Given the description of an element on the screen output the (x, y) to click on. 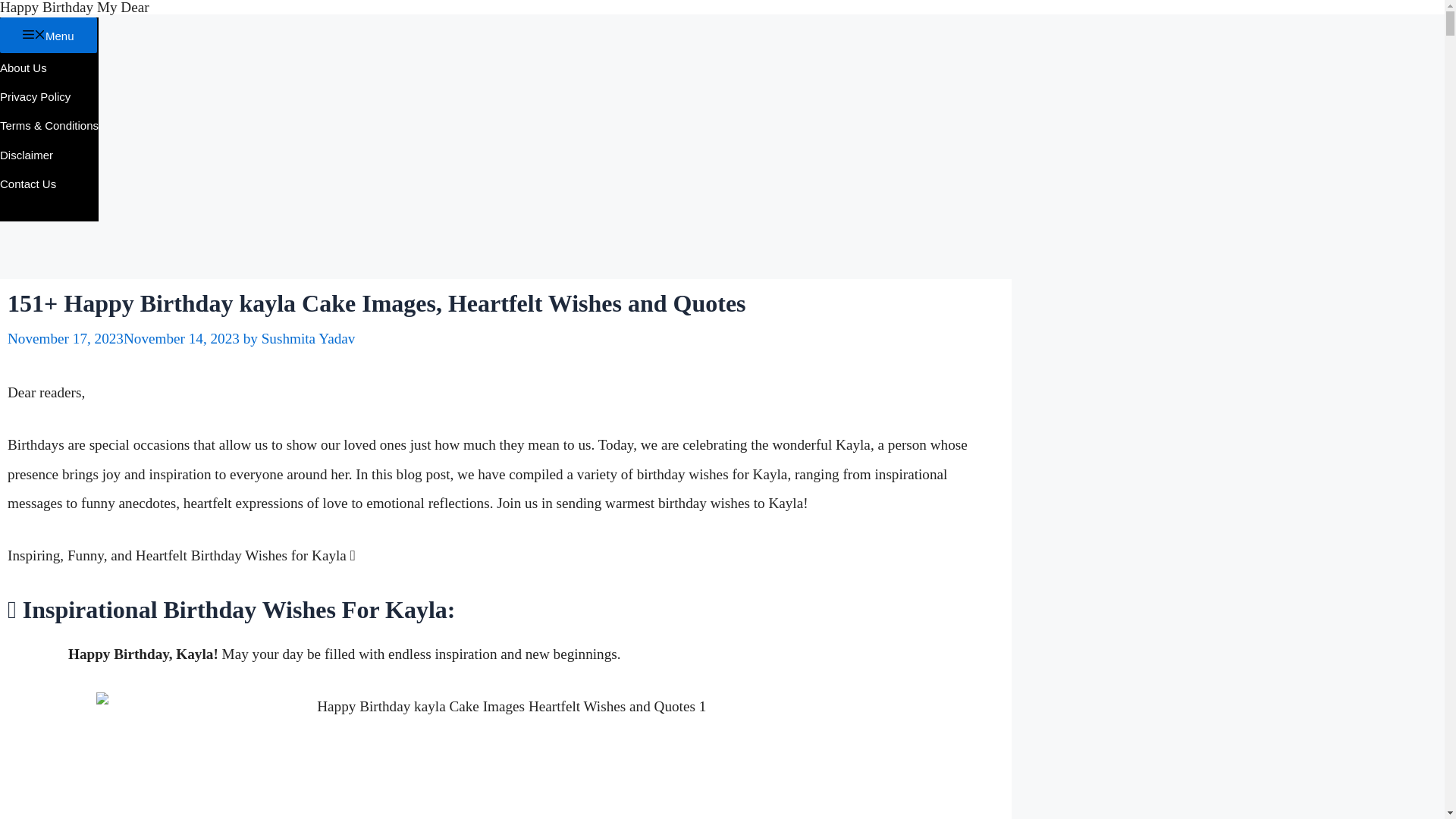
Privacy Policy (34, 96)
View all posts by Sushmita Yadav (308, 338)
Sushmita Yadav (308, 338)
Happy Birthday My Dear (74, 7)
Contact Us (28, 183)
Disclaimer (26, 154)
Menu (48, 34)
About Us (23, 66)
